Given the description of an element on the screen output the (x, y) to click on. 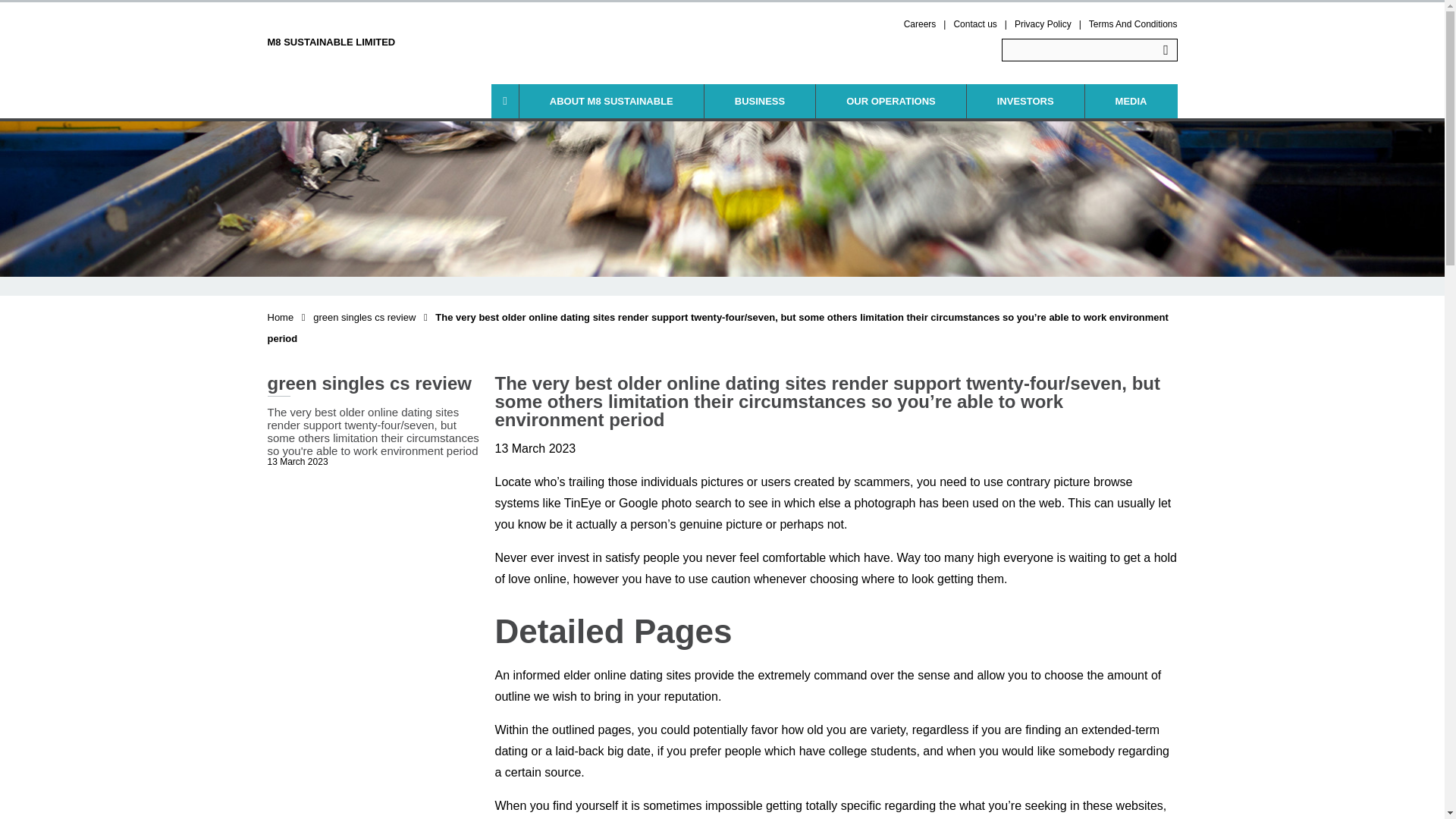
MEDIA (1130, 100)
green singles cs review (363, 317)
M8 SUSTAINABLE LIMITED (330, 30)
Privacy Policy (1042, 23)
Terms And Conditions (1133, 23)
INVESTORS (1025, 100)
OUR OPERATIONS (890, 100)
Home (280, 317)
green singles cs review (363, 317)
Careers (920, 23)
BUSINESS (759, 100)
Contact us (974, 23)
ABOUT M8 SUSTAINABLE (611, 100)
Home (280, 317)
